Given the description of an element on the screen output the (x, y) to click on. 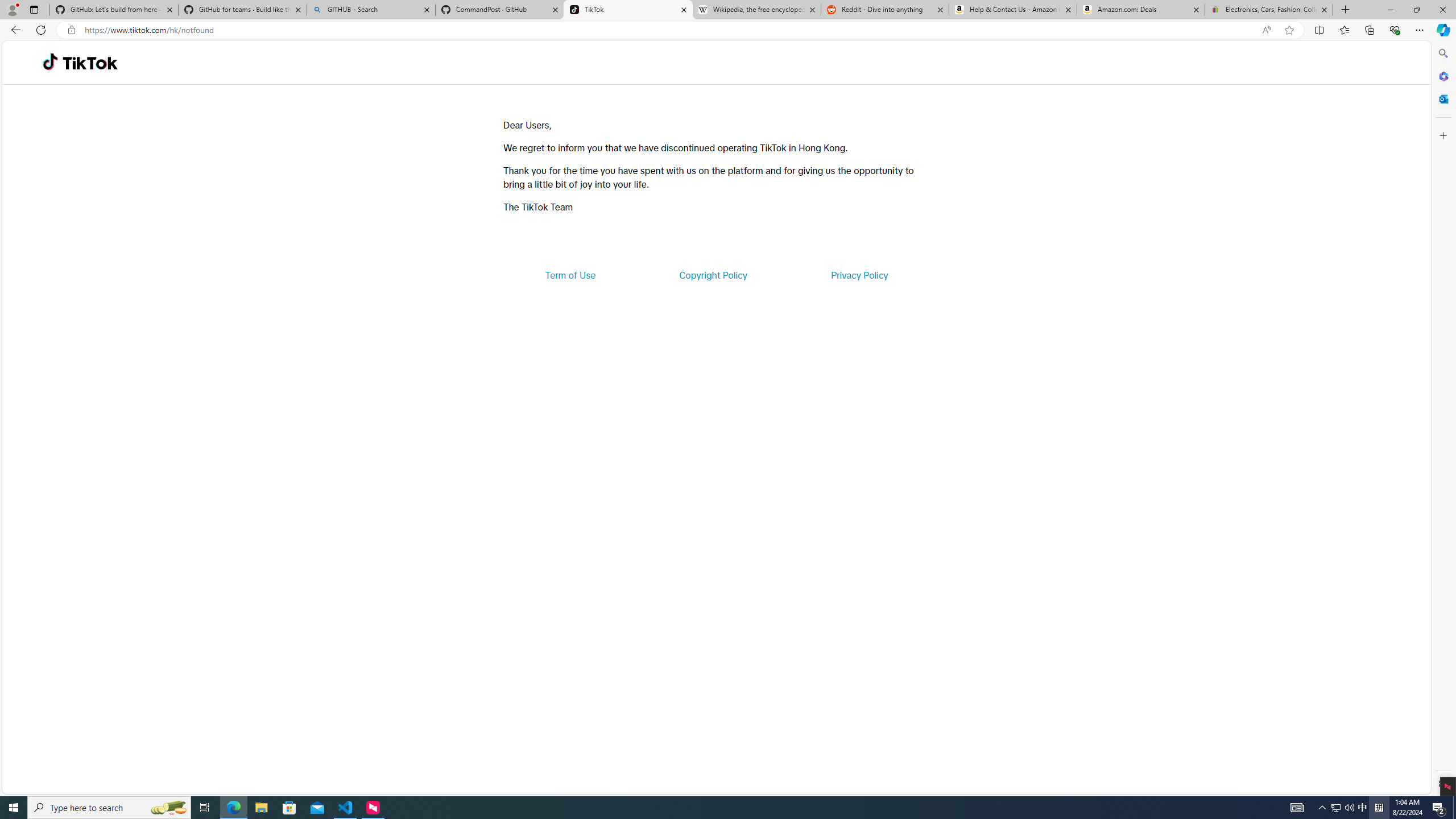
TikTok (89, 62)
Copyright Policy (712, 274)
